Given the description of an element on the screen output the (x, y) to click on. 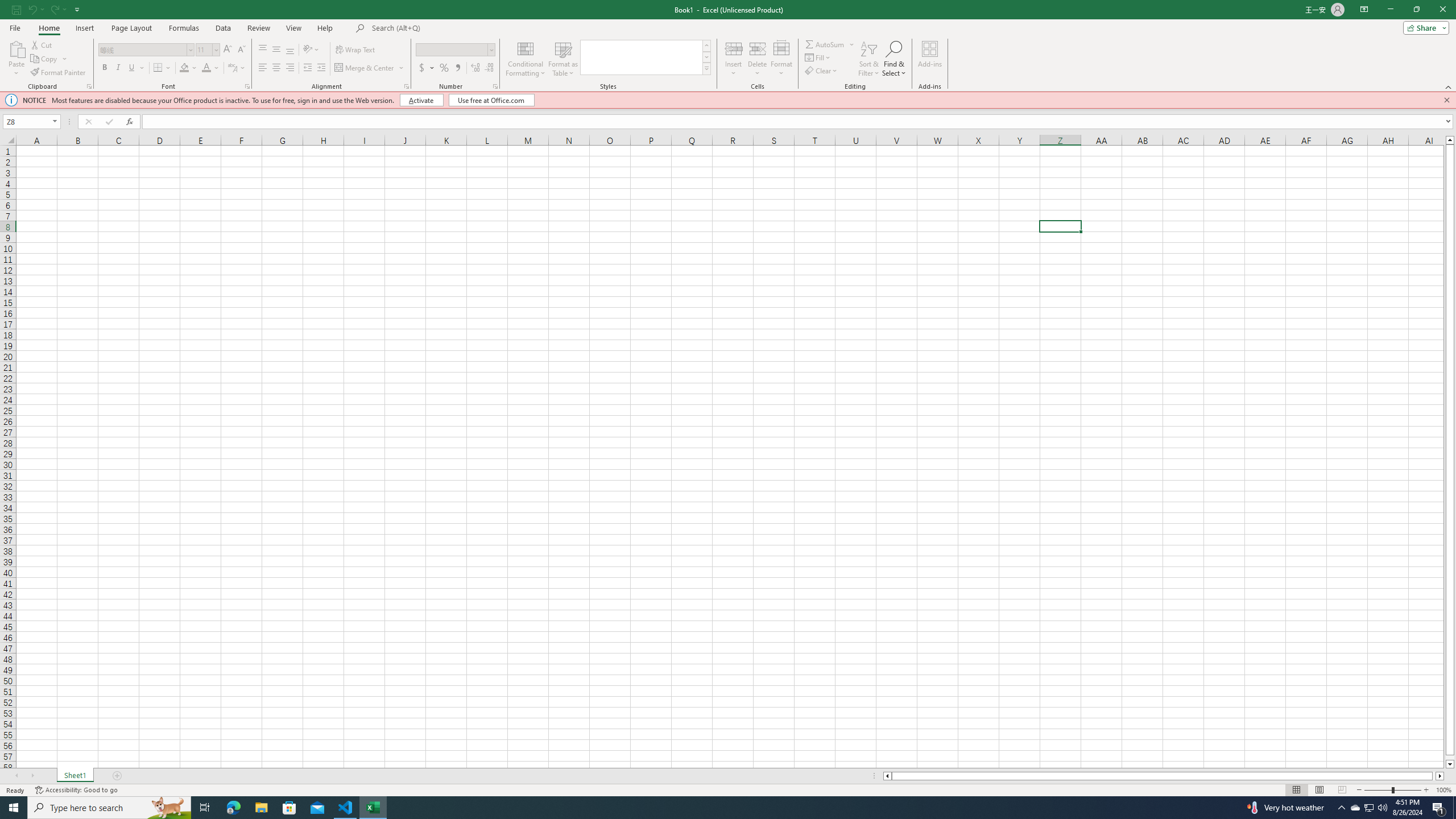
Sum (825, 44)
AutoSum (830, 44)
